Given the description of an element on the screen output the (x, y) to click on. 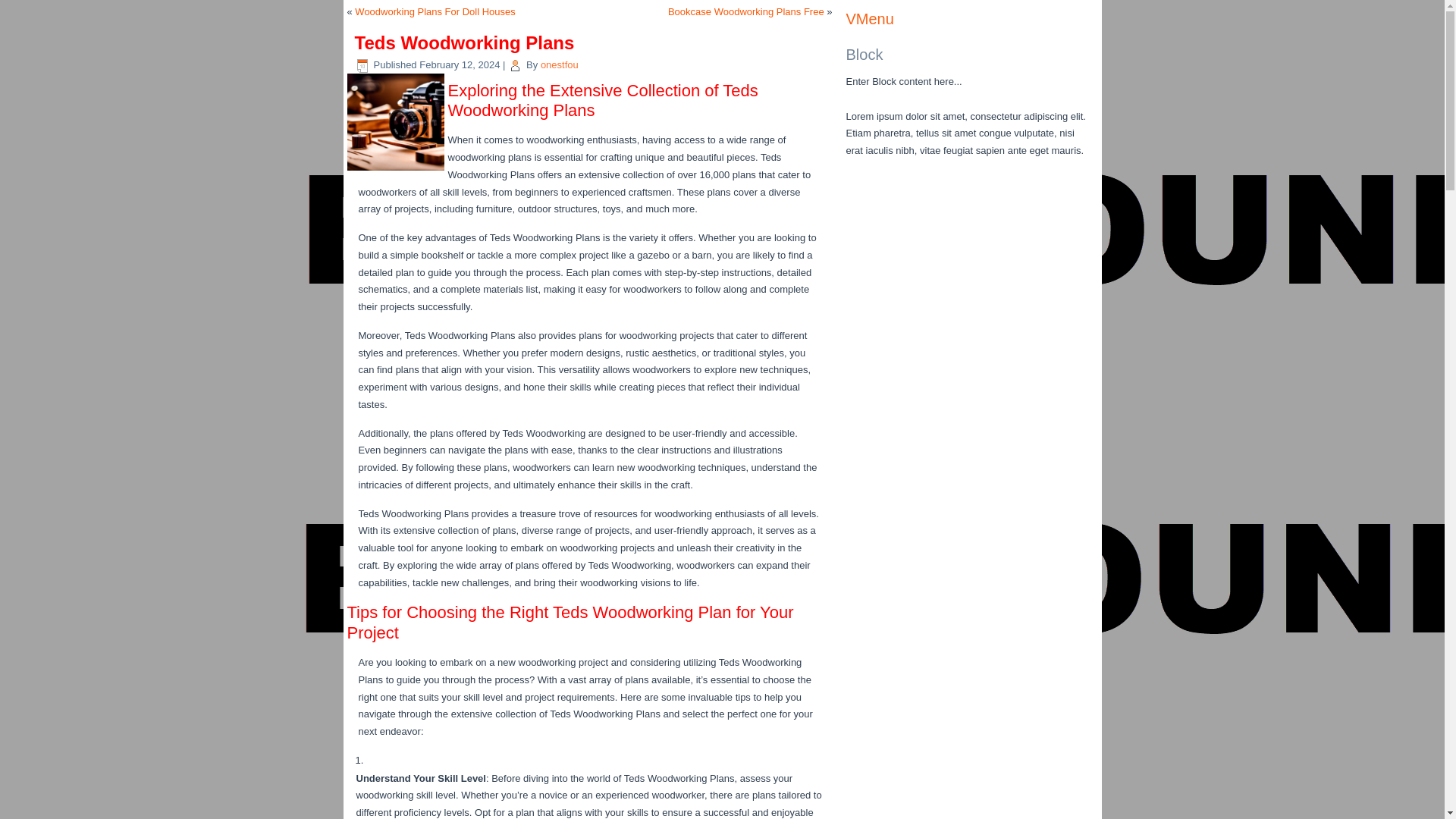
Woodworking Plans For Doll Houses (435, 11)
Bookcase Woodworking Plans Free (746, 11)
Teds Woodworking Plans (397, 170)
onestfou (559, 64)
View all posts by onestfou (559, 64)
Teds Woodworking Plans (395, 121)
Woodworking Plans For Doll Houses (435, 11)
Bookcase Woodworking Plans Free (746, 11)
9:43 am (459, 64)
